Given the description of an element on the screen output the (x, y) to click on. 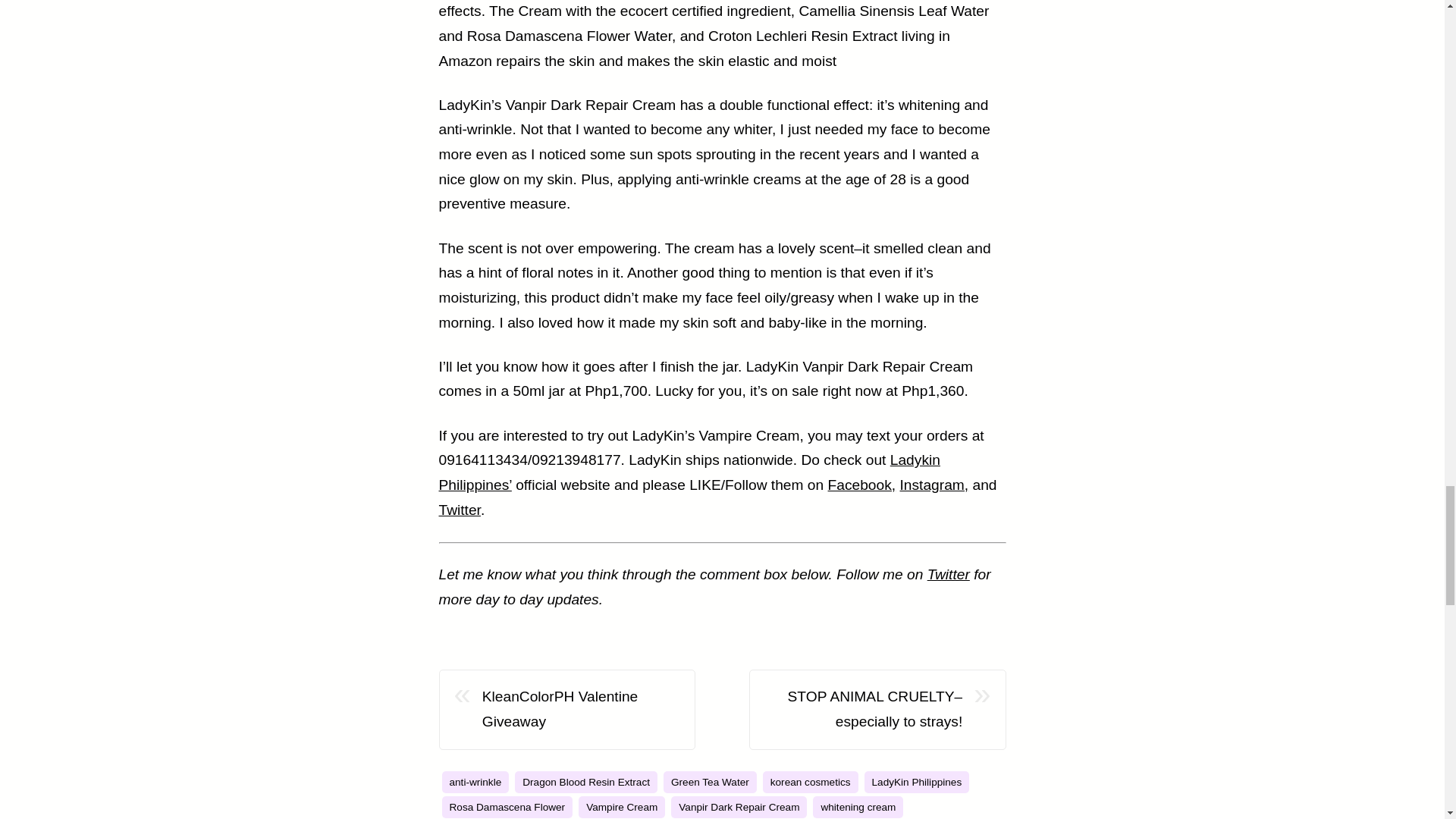
korean cosmetics (810, 782)
Rosa Damascena Flower (506, 807)
Instagram, (933, 484)
Twitter (948, 574)
anti-wrinkle (474, 782)
Vampire Cream (621, 807)
Green Tea Water (710, 782)
whitening cream (857, 807)
LadyKin Philippines (916, 782)
Twitter (459, 509)
